Given the description of an element on the screen output the (x, y) to click on. 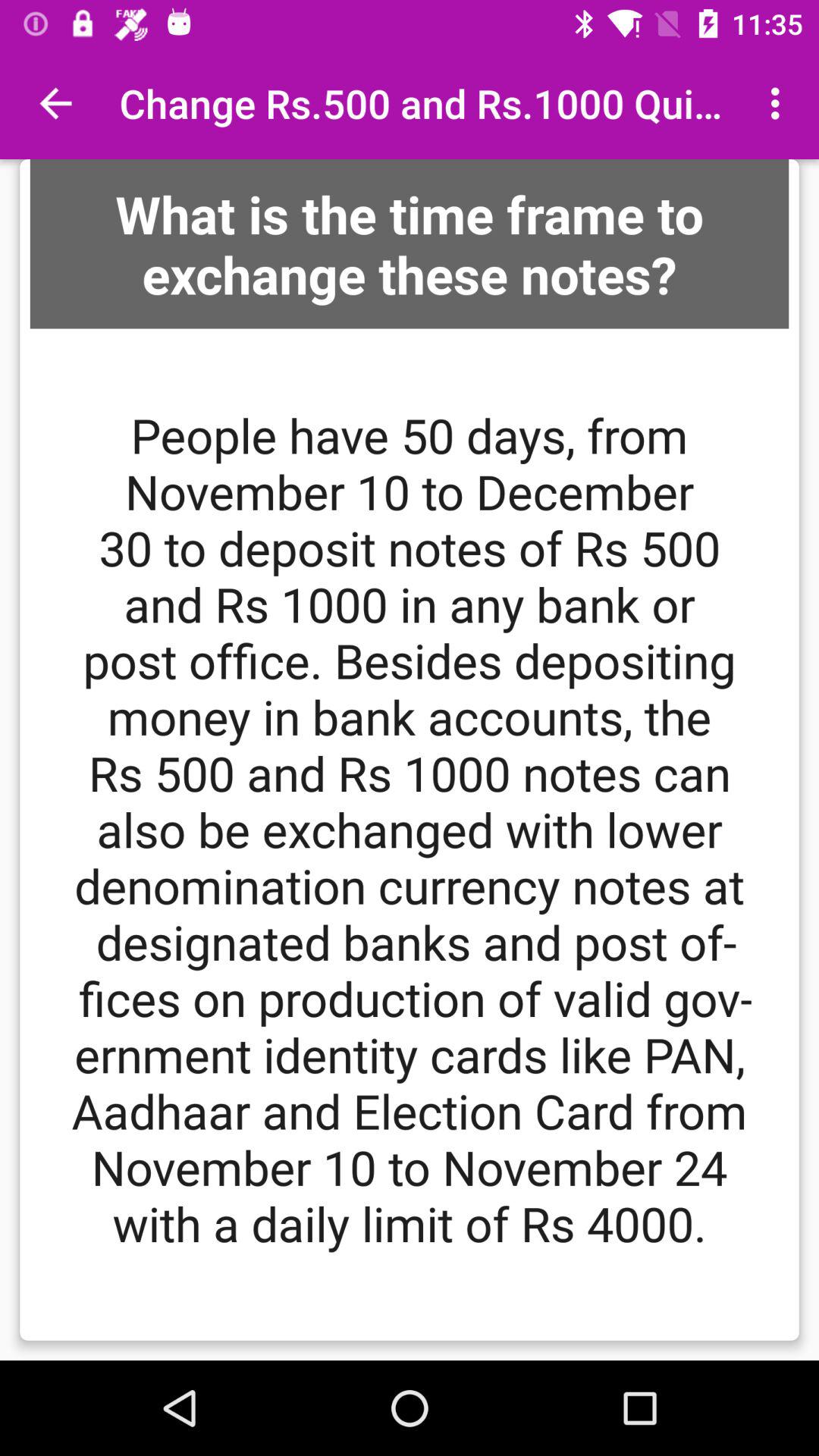
turn on item next to change rs 500 item (779, 103)
